Given the description of an element on the screen output the (x, y) to click on. 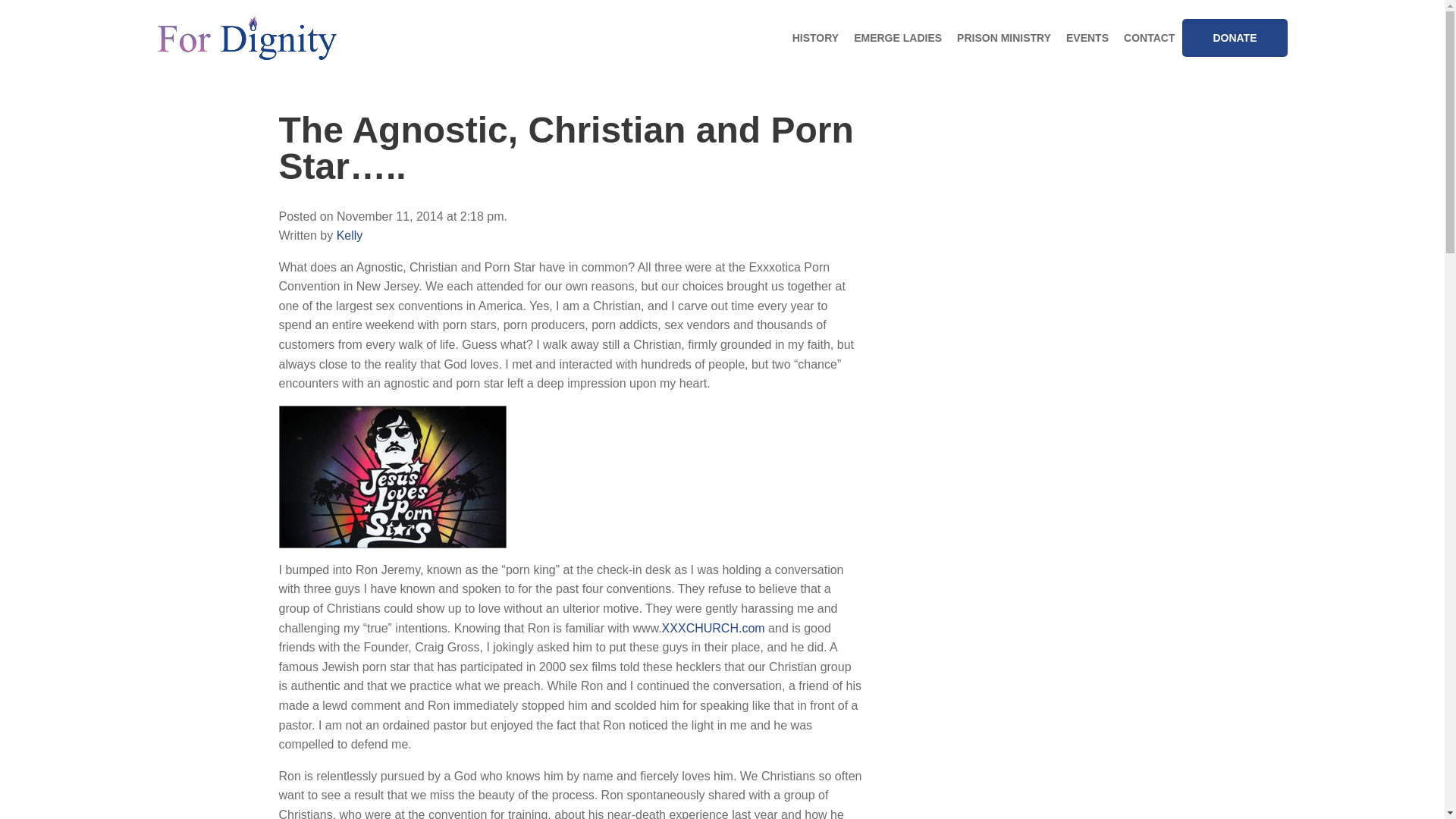
DONATE (1234, 37)
Kelly (349, 235)
HISTORY (814, 37)
For Dignity (246, 38)
XXXCHURCH.com  (715, 627)
EMERGE LADIES (897, 37)
PRISON MINISTRY (1003, 37)
CONTACT (1149, 37)
EVENTS (1087, 37)
